Given the description of an element on the screen output the (x, y) to click on. 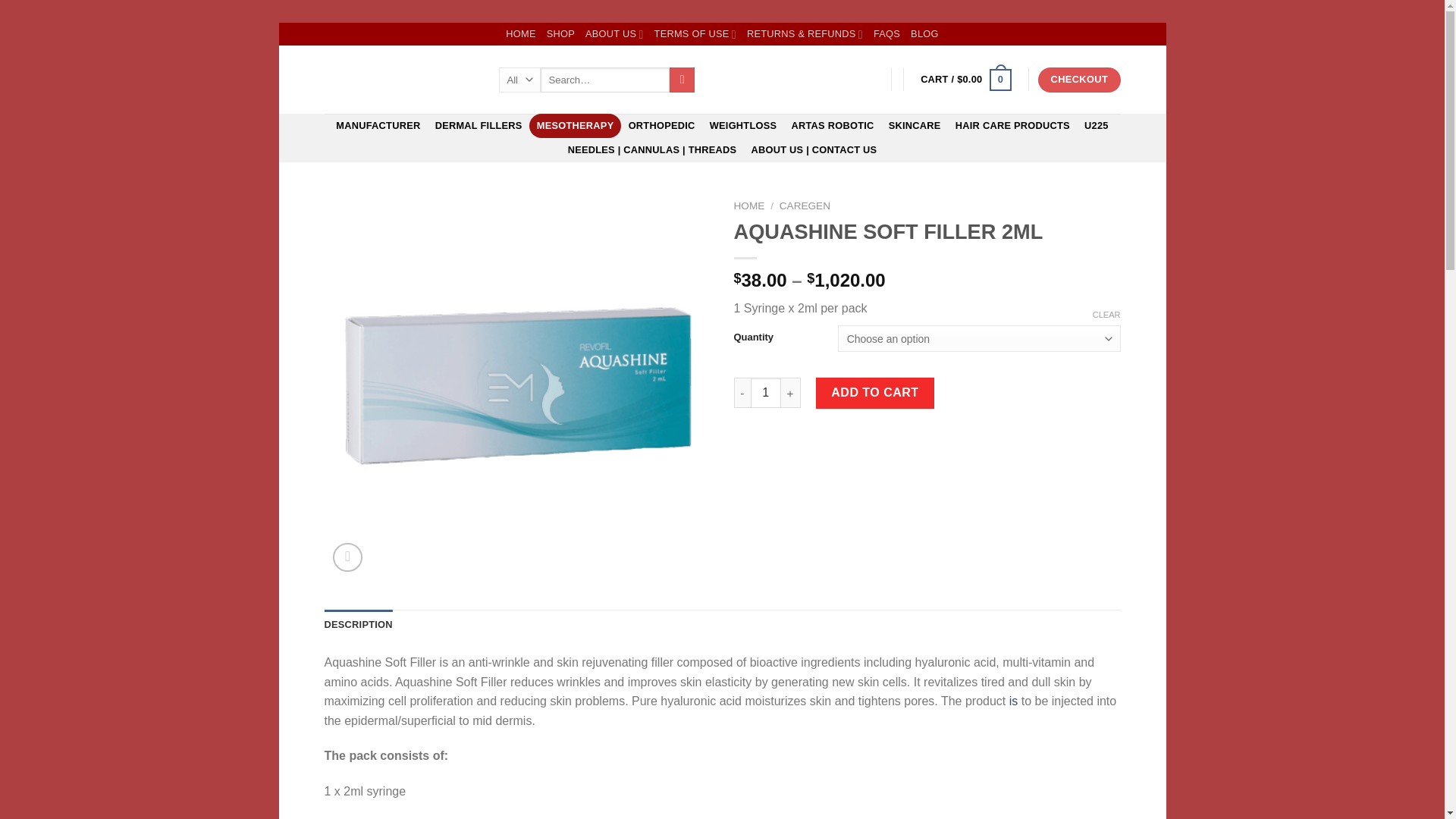
FILLER ESSENTIALS - Cosmetic Filler Essential (400, 79)
ABOUT US (614, 33)
HOME (749, 205)
MESOTHERAPY (575, 125)
1 (765, 392)
HOME (520, 33)
CAREGEN (803, 205)
Qty (765, 392)
DERMAL FILLERS (478, 125)
